Given the description of an element on the screen output the (x, y) to click on. 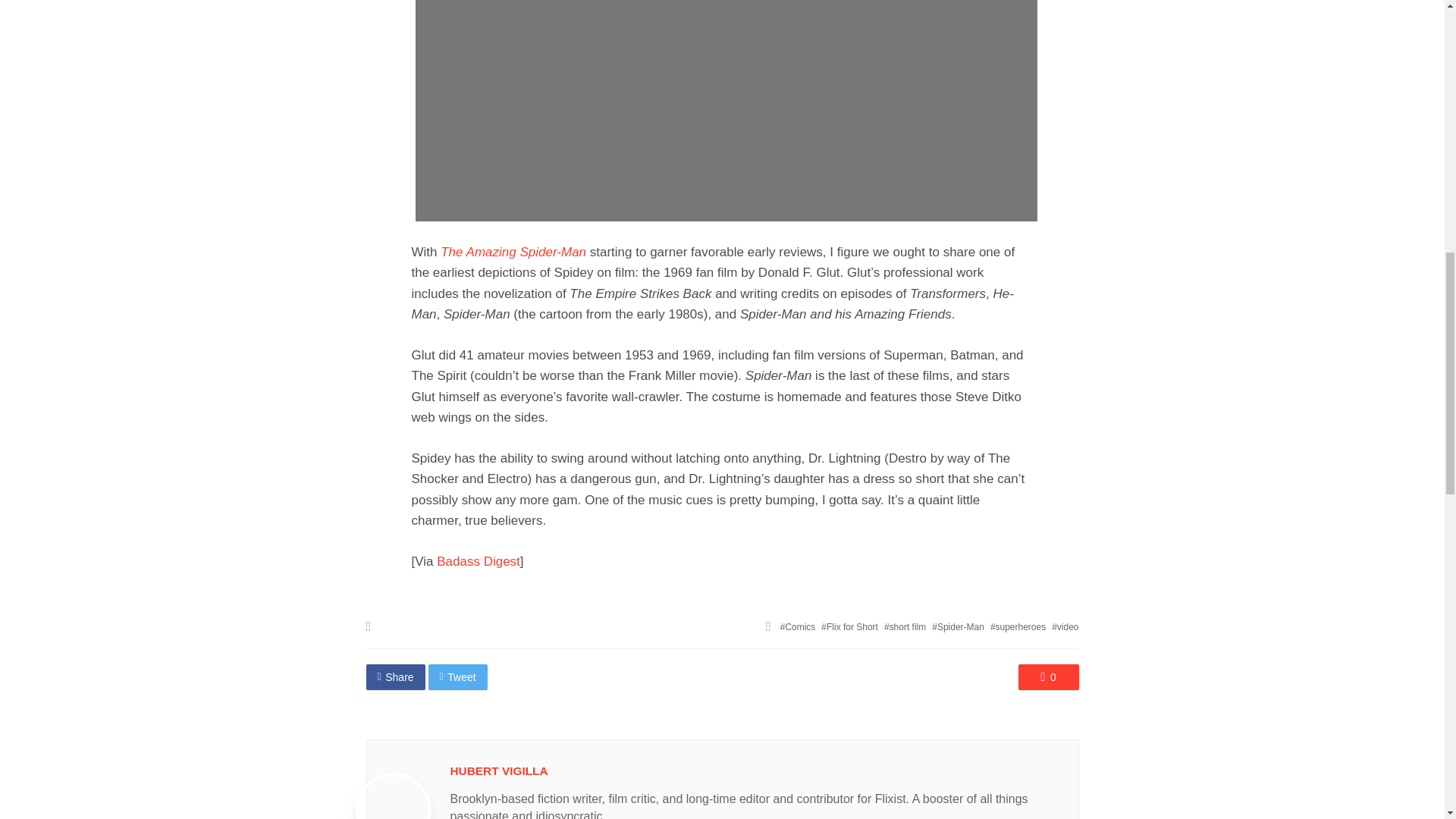
Tweet (457, 677)
video (1064, 626)
0 Comments (1047, 677)
short film (904, 626)
0 (1047, 677)
Share (395, 677)
Comics (797, 626)
Badass Digest (477, 561)
Flix for Short (849, 626)
Spider-Man (957, 626)
